Given the description of an element on the screen output the (x, y) to click on. 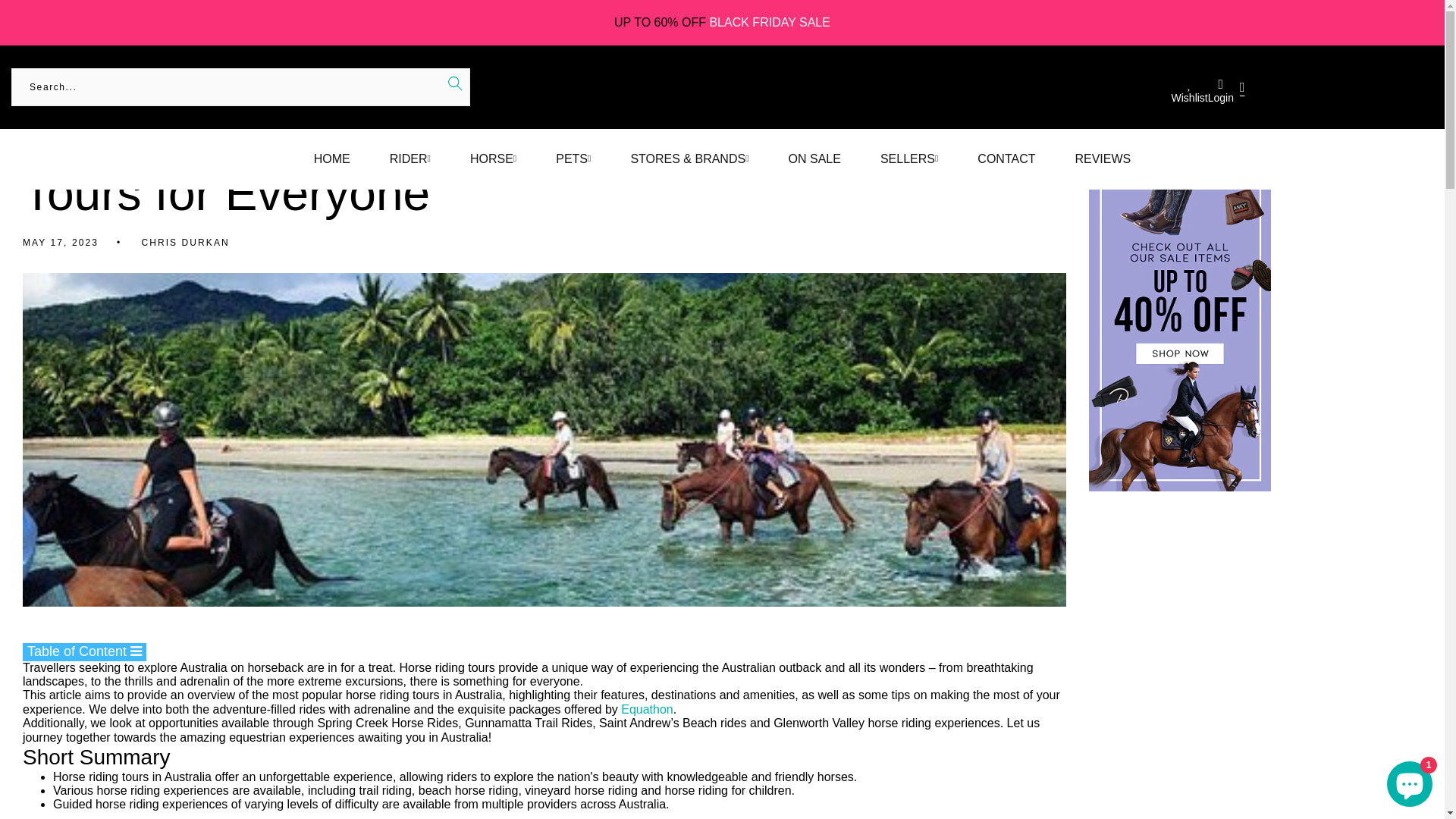
HOME Element type: text (331, 159)
Table of Content Element type: text (84, 652)
 HOME Element type: text (25, 22)
A Review Of Samshield Helmets - Styles, Safety & Pricing Element type: text (1254, 119)
REVIEWS Element type: text (1102, 159)
ON SALE Element type: text (814, 159)
Shopify online store chat Element type: hover (1409, 780)
UP TO 60% OFF BLACK FRIDAY SALE Element type: text (722, 21)
What Is The Ride iQ App? Element type: text (1254, 73)
CONTACT Element type: text (1006, 159)
Equathon Element type: text (647, 708)
THE EQUESTRIAN NEWS & PRODUCT REVIEWS Element type: text (155, 22)
SELLERS Element type: text (907, 159)
Reviewing The KASK Kooki Lady Horse Riding Helmet Element type: text (1254, 104)
Canine & Equine Joint Health - 4CYTE Epitalis Review - 4CYTE Element type: text (1254, 89)
